Given the description of an element on the screen output the (x, y) to click on. 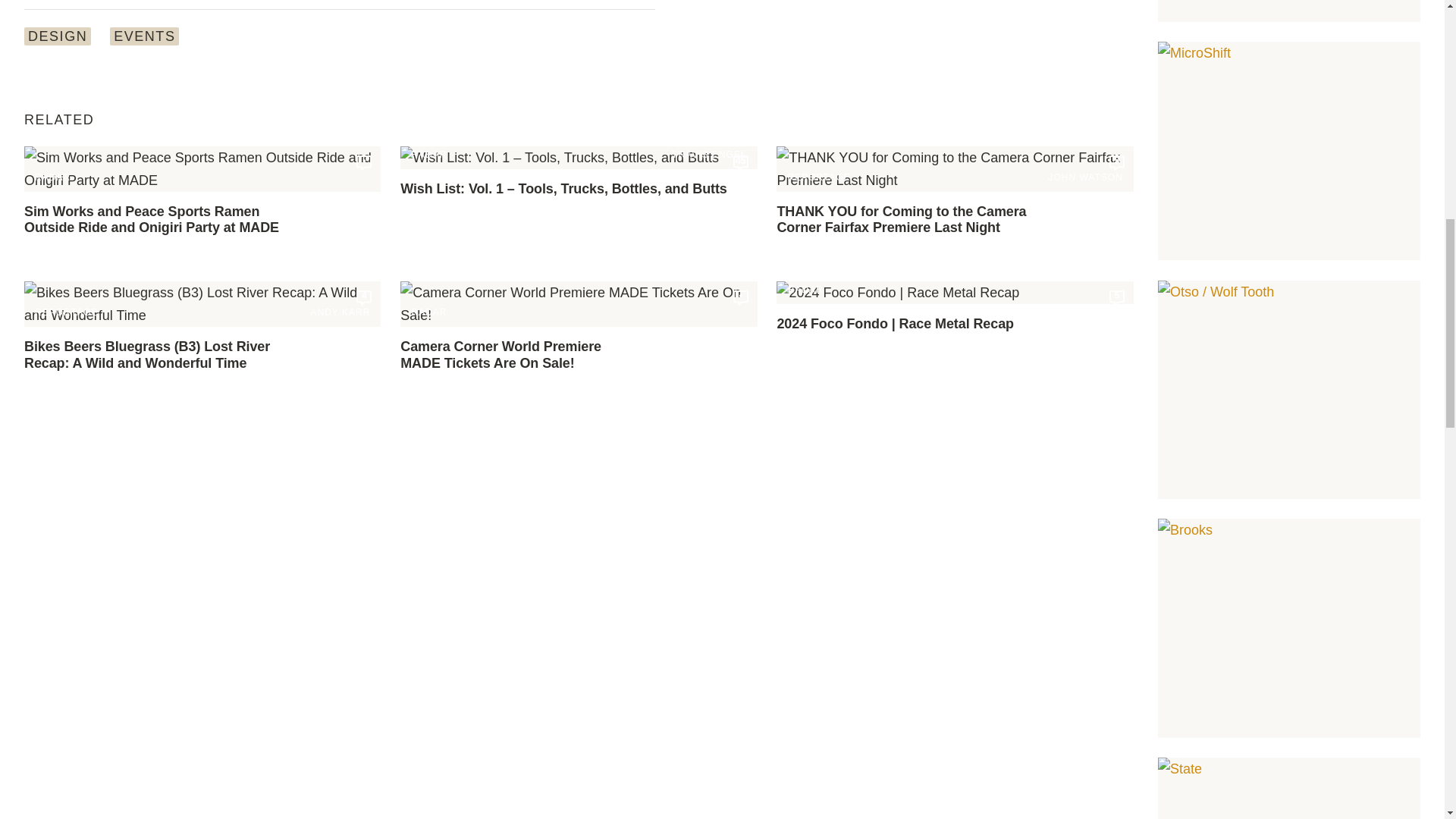
MicroShift (1289, 150)
Brooks (1289, 627)
State (1289, 788)
Paul Components (1289, 10)
